Given the description of an element on the screen output the (x, y) to click on. 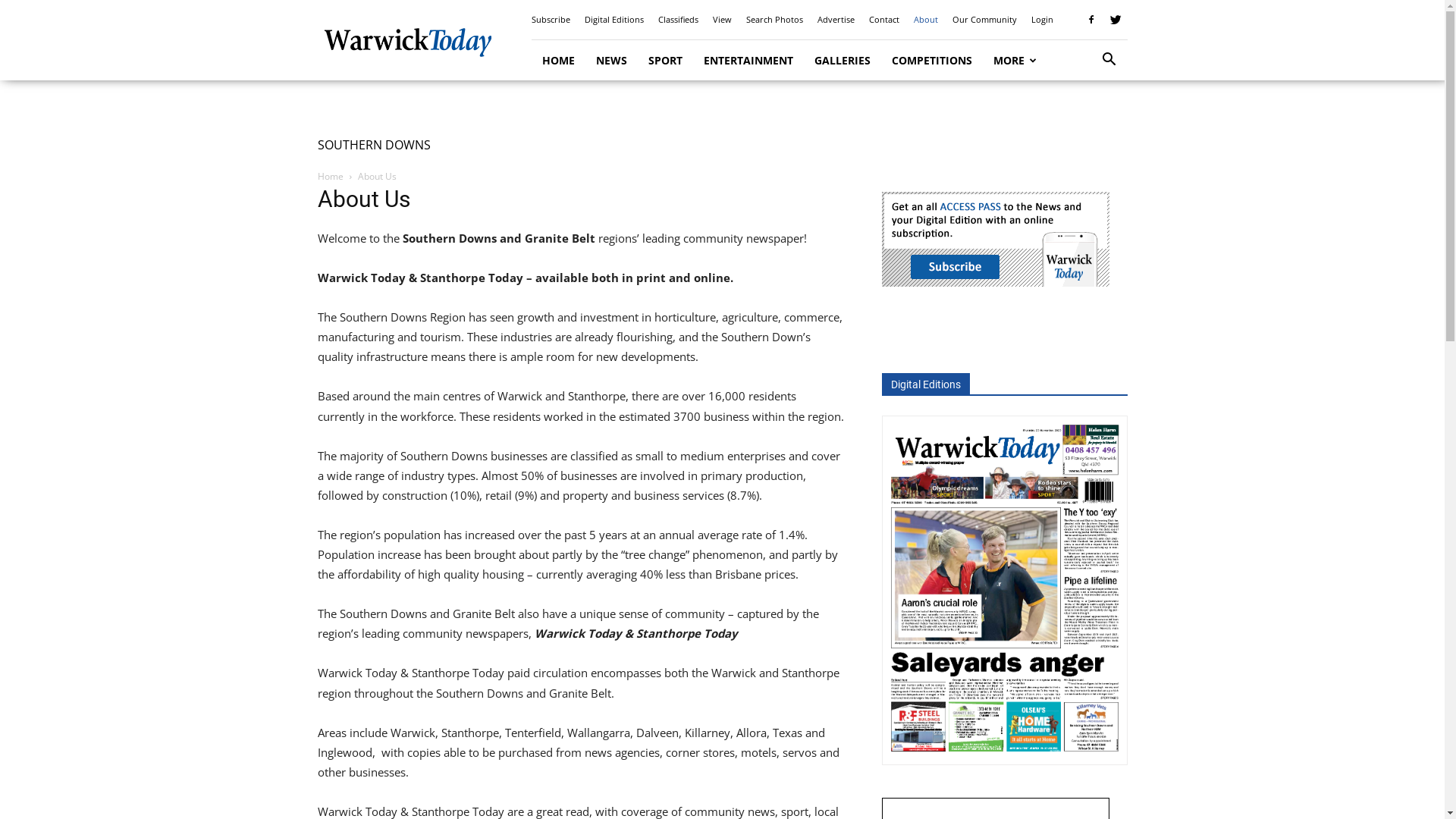
GALLERIES Element type: text (842, 60)
Digital Editions Element type: text (613, 19)
COMPETITIONS Element type: text (931, 60)
HOME Element type: text (557, 60)
MORE Element type: text (1015, 60)
Search Photos Element type: text (774, 19)
NEWS Element type: text (611, 60)
SPORT Element type: text (664, 60)
ENTERTAINMENT Element type: text (748, 60)
Classifieds Element type: text (678, 19)
Home Element type: text (329, 175)
Advertise Element type: text (835, 19)
Contact Element type: text (884, 19)
About Element type: text (925, 19)
Subscribe Element type: text (549, 19)
Our Community Element type: text (984, 19)
Search Element type: text (1084, 122)
Login Element type: text (1042, 19)
Twitter Element type: hover (1115, 19)
Warwick Today Element type: hover (406, 39)
View Element type: text (721, 19)
Facebook Element type: hover (1090, 19)
